Given the description of an element on the screen output the (x, y) to click on. 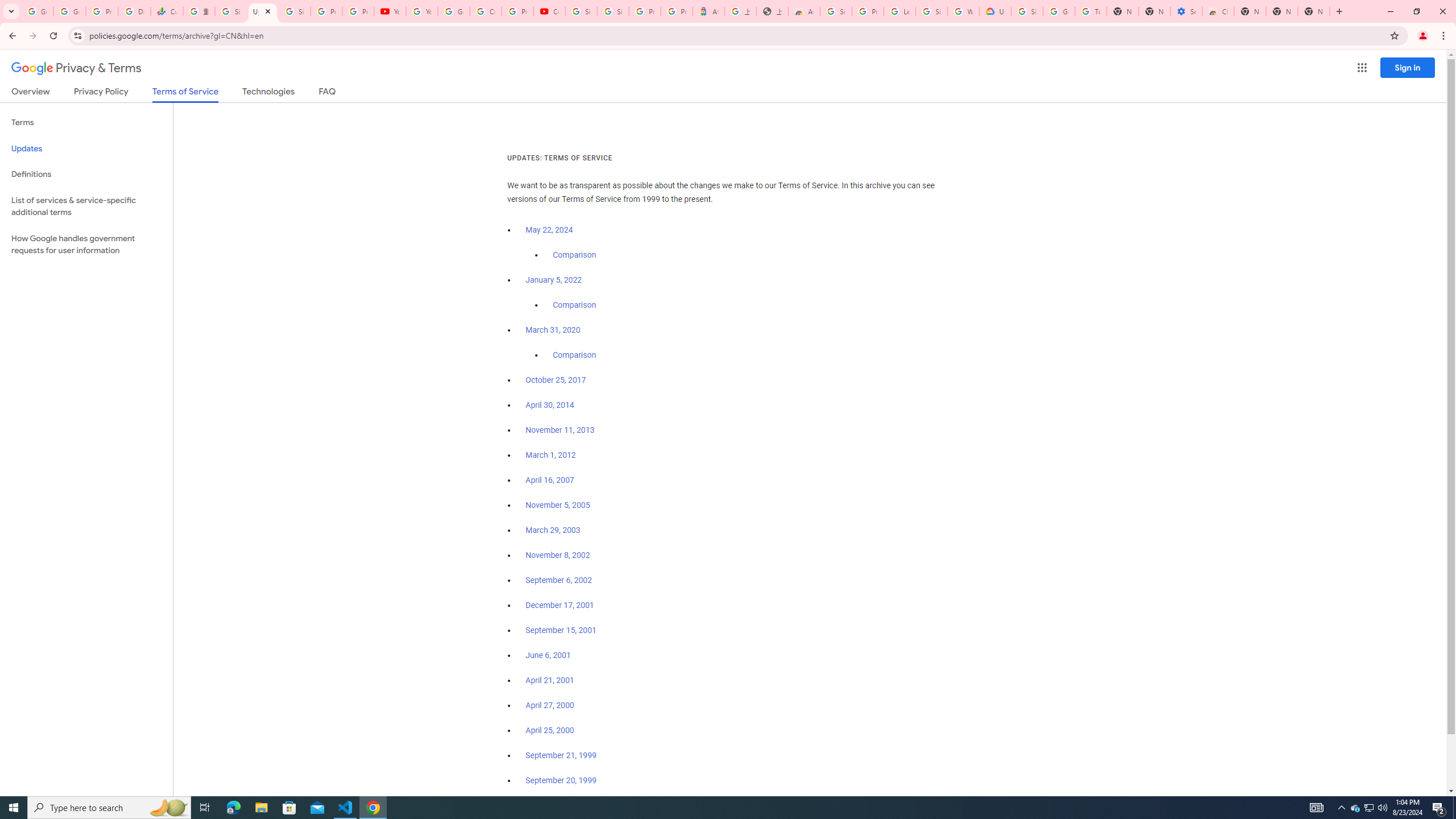
Google Account Help (1059, 11)
Content Creator Programs & Opportunities - YouTube Creators (549, 11)
Atour Hotel - Google hotels (708, 11)
November 11, 2013 (560, 430)
November 8, 2002 (557, 555)
April 27, 2000 (550, 705)
September 15, 2001 (560, 629)
